Given the description of an element on the screen output the (x, y) to click on. 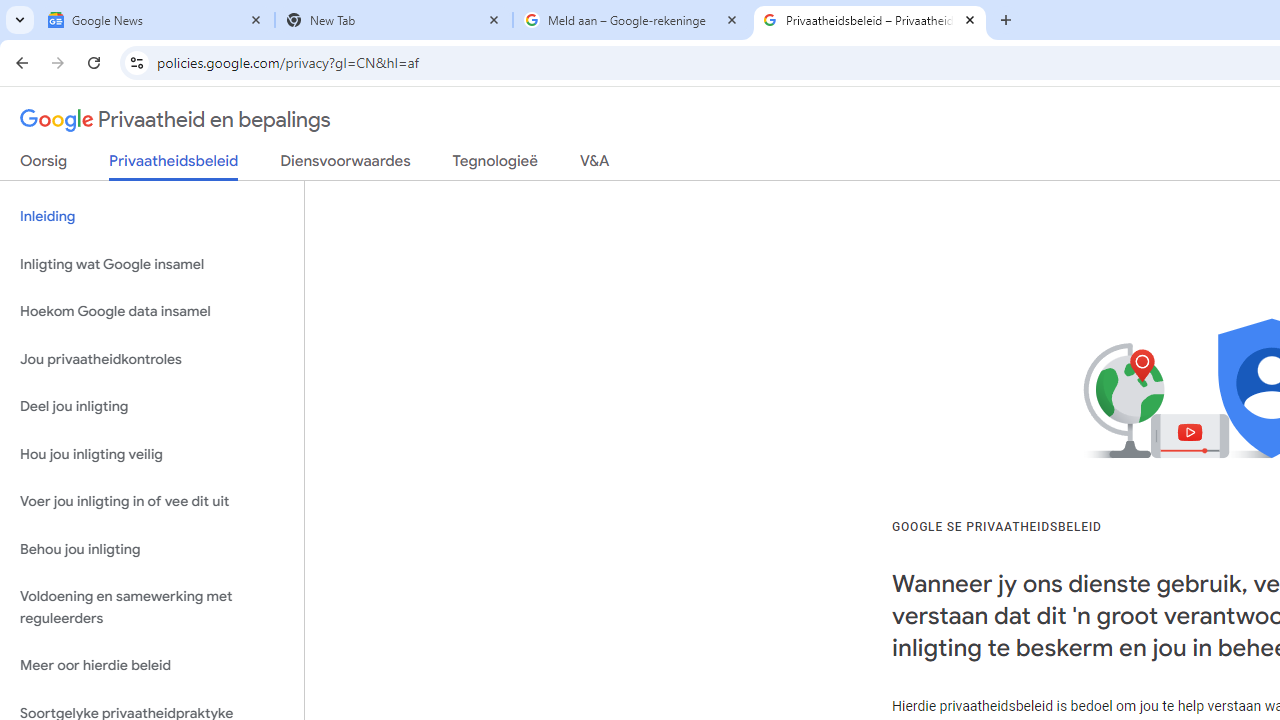
Deel jou inligting (152, 407)
Google News (156, 20)
Voldoening en samewerking met reguleerders (152, 607)
Inleiding (152, 216)
New Tab (394, 20)
Diensvoorwaardes (345, 165)
Oorsig (43, 165)
Privaatheid en bepalings (175, 120)
